Given the description of an element on the screen output the (x, y) to click on. 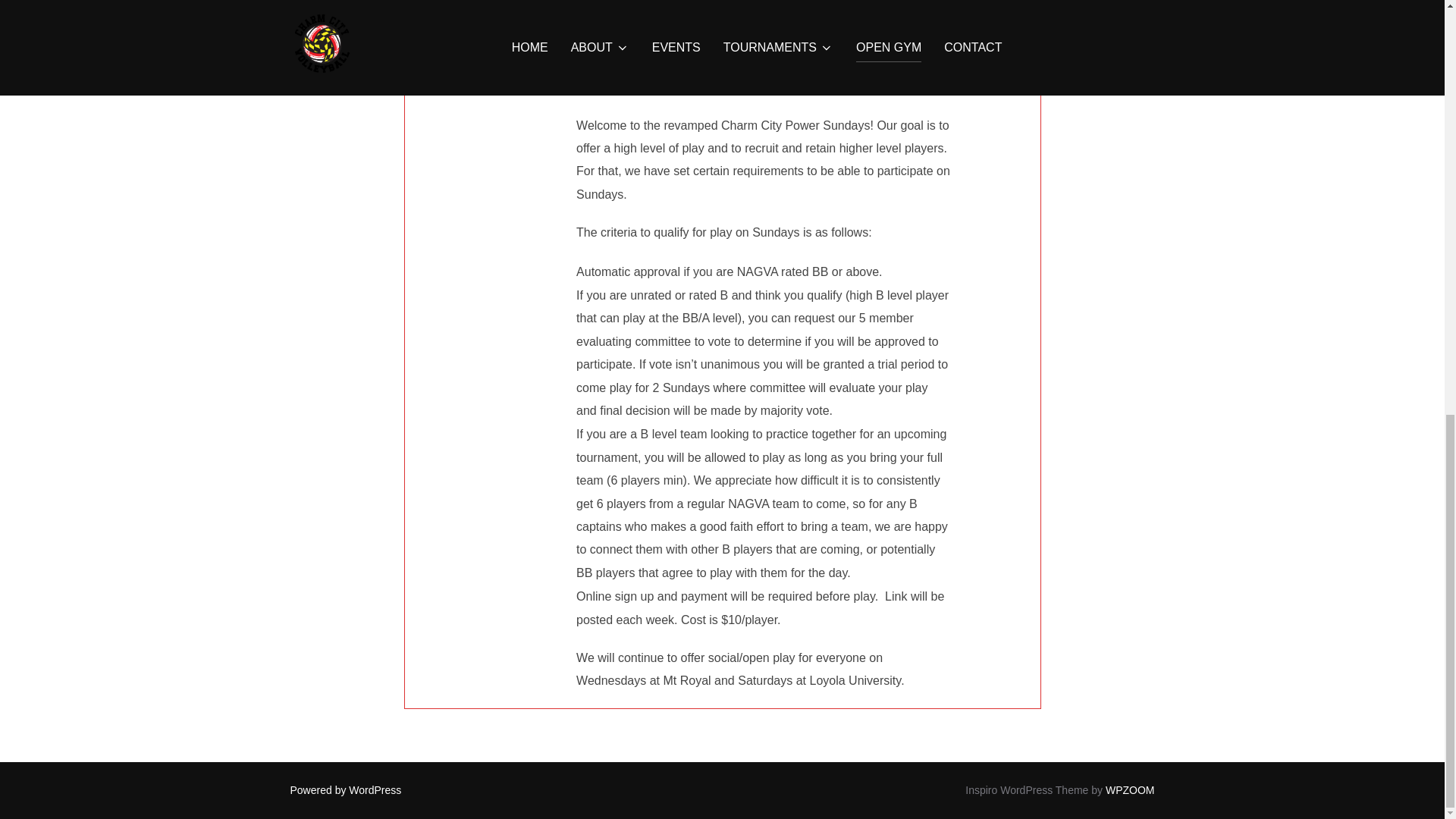
Powered by WordPress (345, 789)
WPZOOM (1129, 789)
